Given the description of an element on the screen output the (x, y) to click on. 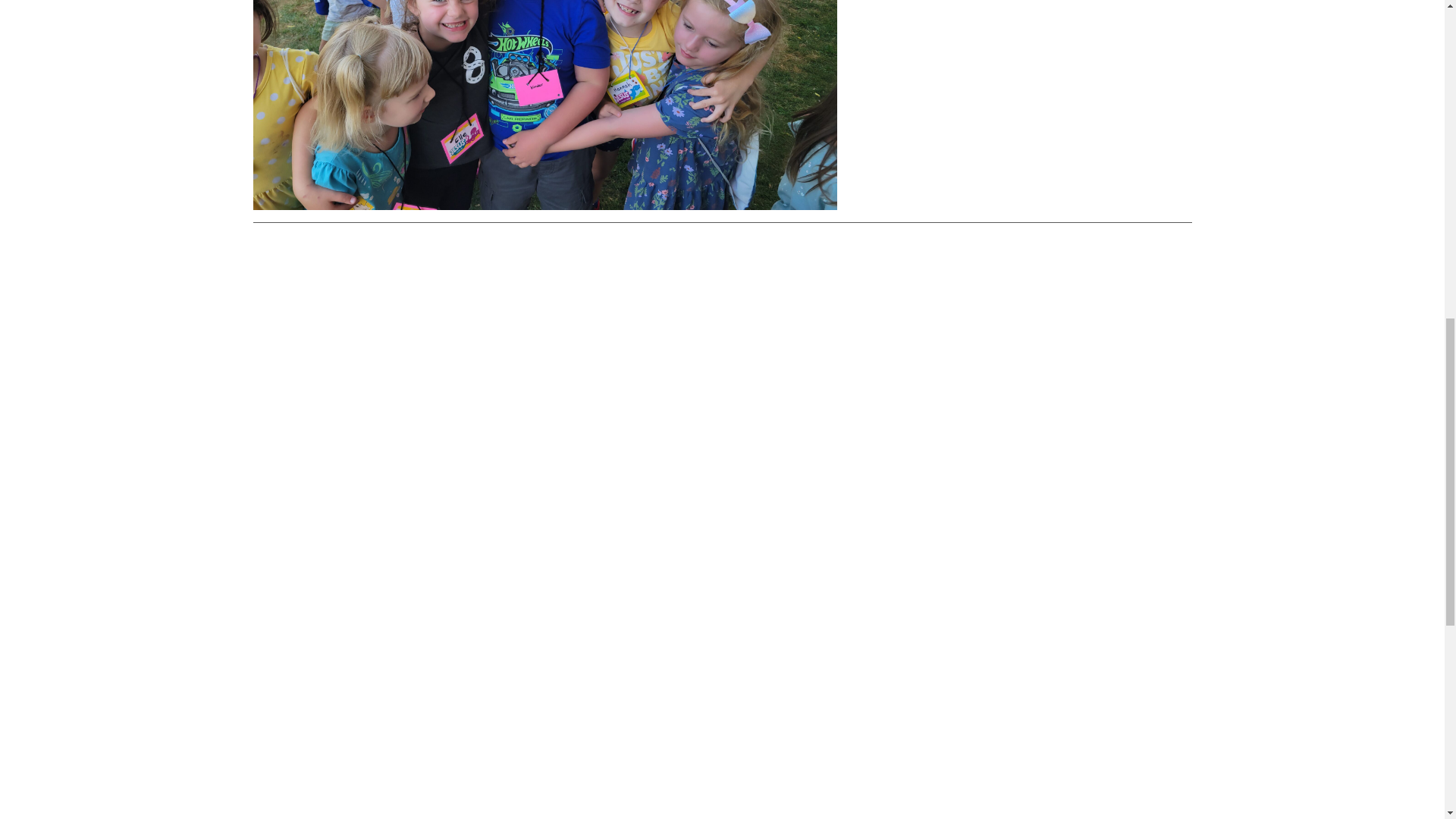
D3S15 (545, 104)
